Given the description of an element on the screen output the (x, y) to click on. 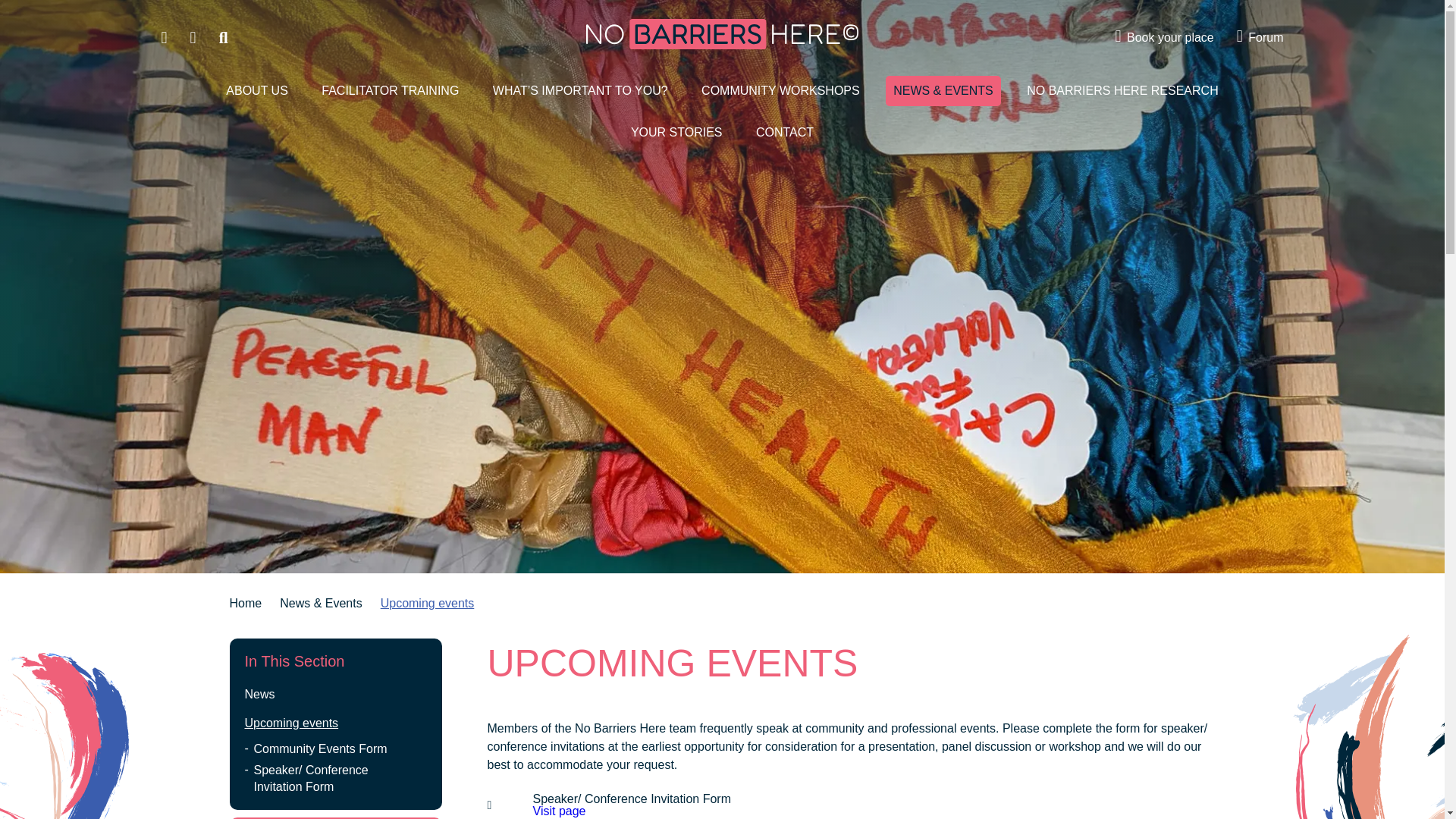
Visit page (558, 810)
NO BARRIERS HERE RESEARCH (1122, 91)
Book your place (1164, 37)
YOUR STORIES (676, 132)
Upcoming events (334, 723)
Forum (1259, 37)
COMMUNITY WORKSHOPS (780, 91)
Upcoming events (428, 603)
Community Events Form (334, 749)
